Given the description of an element on the screen output the (x, y) to click on. 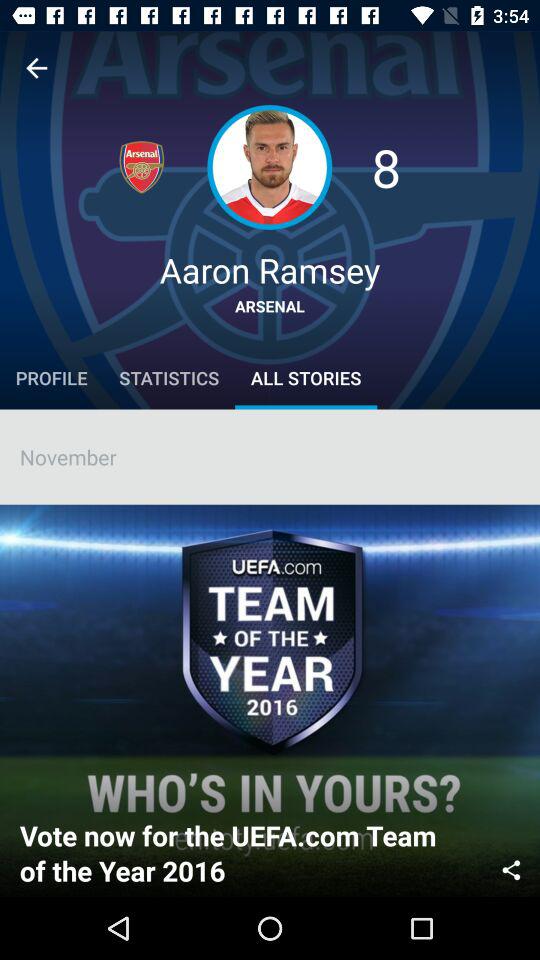
tap icon at the bottom right corner (511, 868)
